Given the description of an element on the screen output the (x, y) to click on. 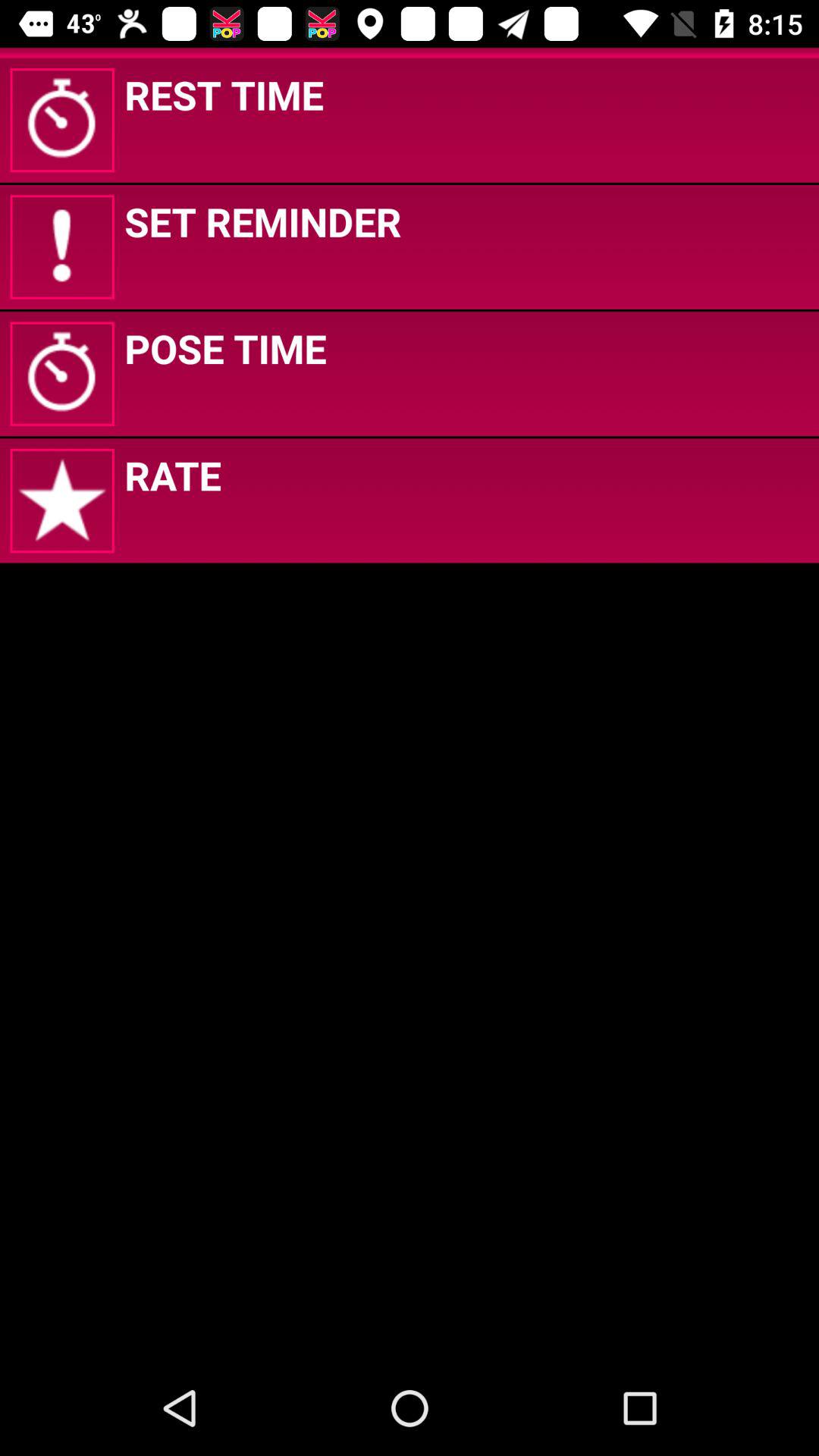
tap icon below rest time app (262, 221)
